Given the description of an element on the screen output the (x, y) to click on. 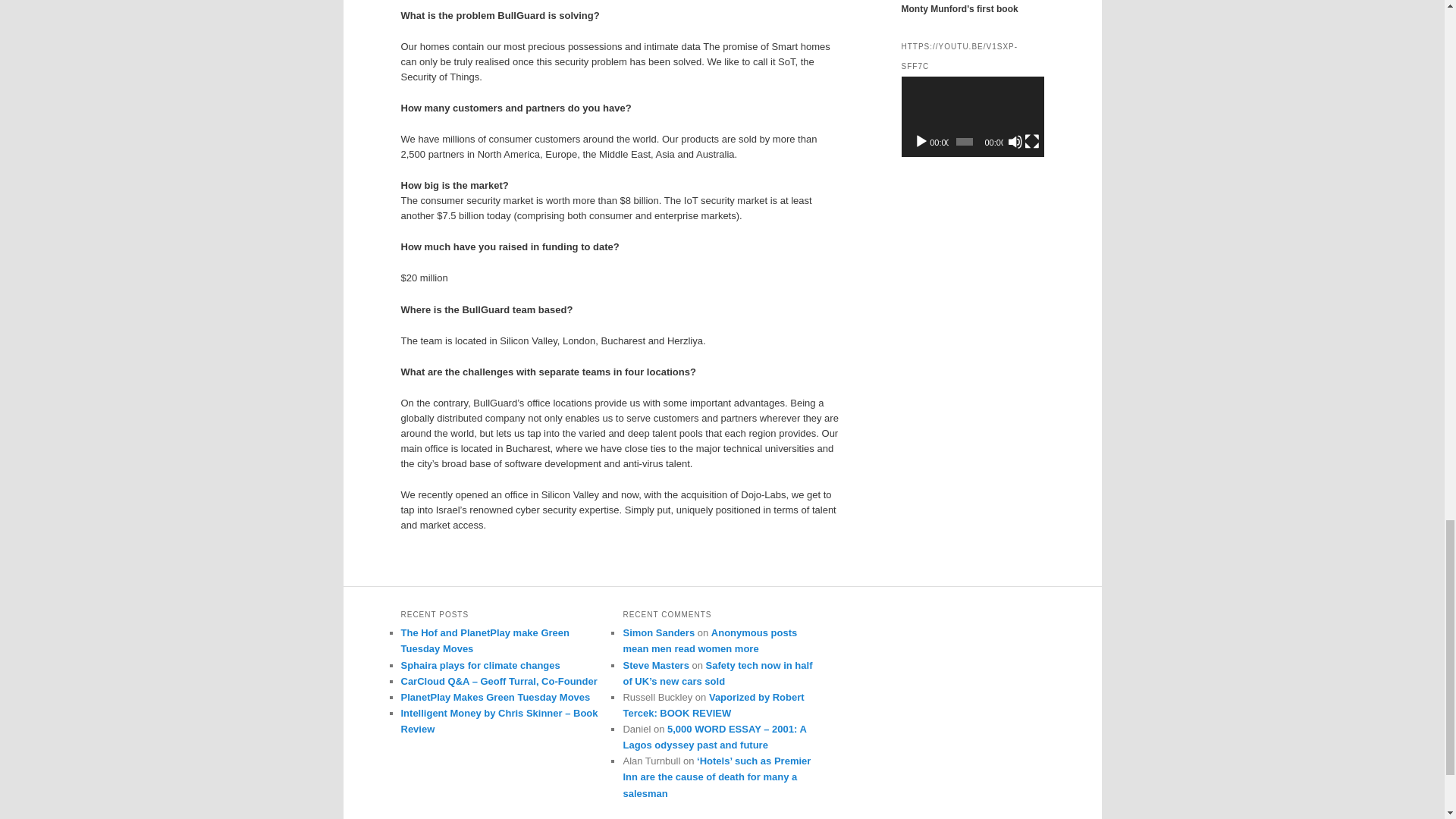
Play (920, 141)
Mute (1015, 141)
Fullscreen (1032, 141)
